Given the description of an element on the screen output the (x, y) to click on. 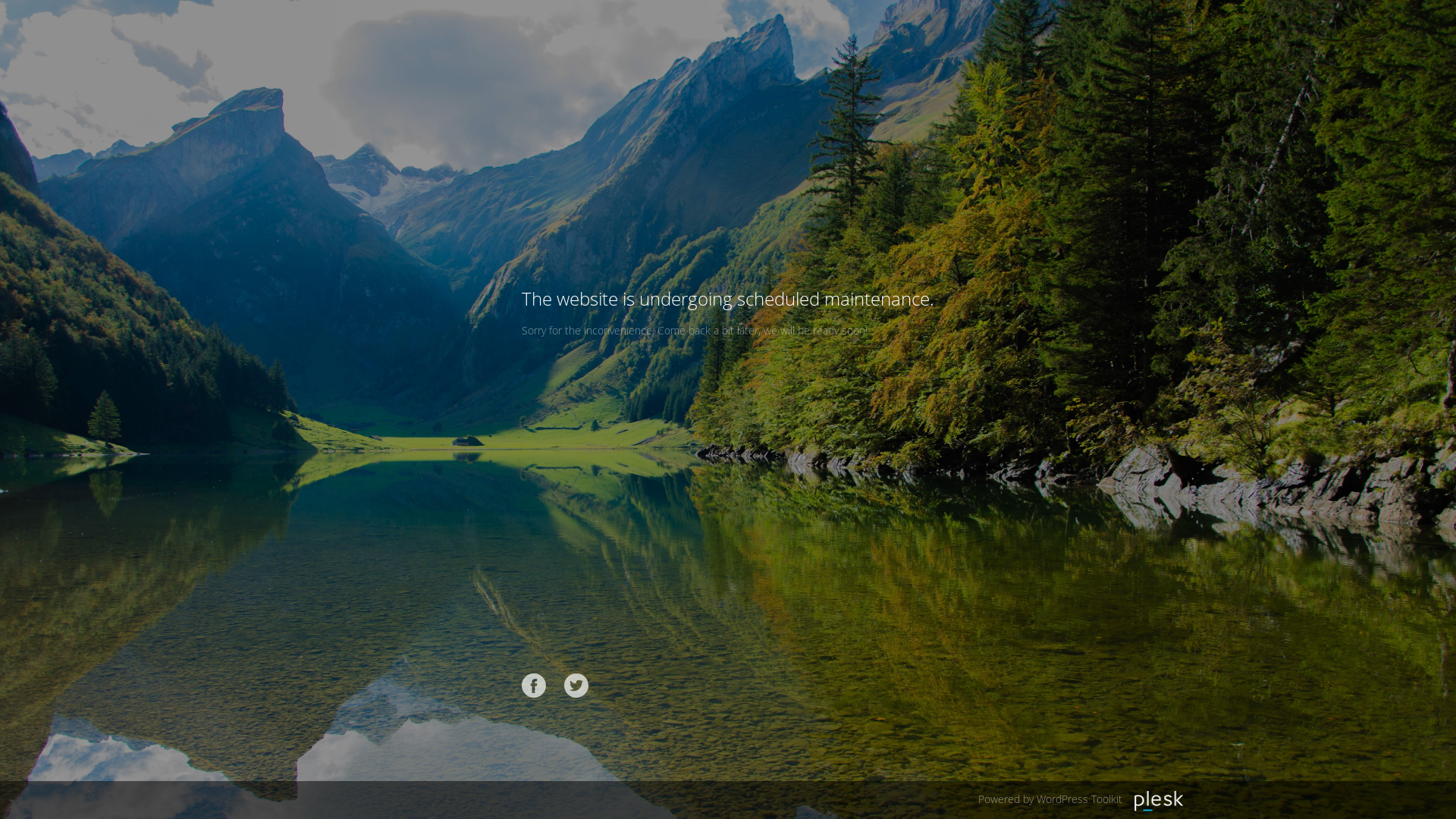
Facebook Element type: hover (533, 685)
Twitter Element type: hover (576, 685)
